Given the description of an element on the screen output the (x, y) to click on. 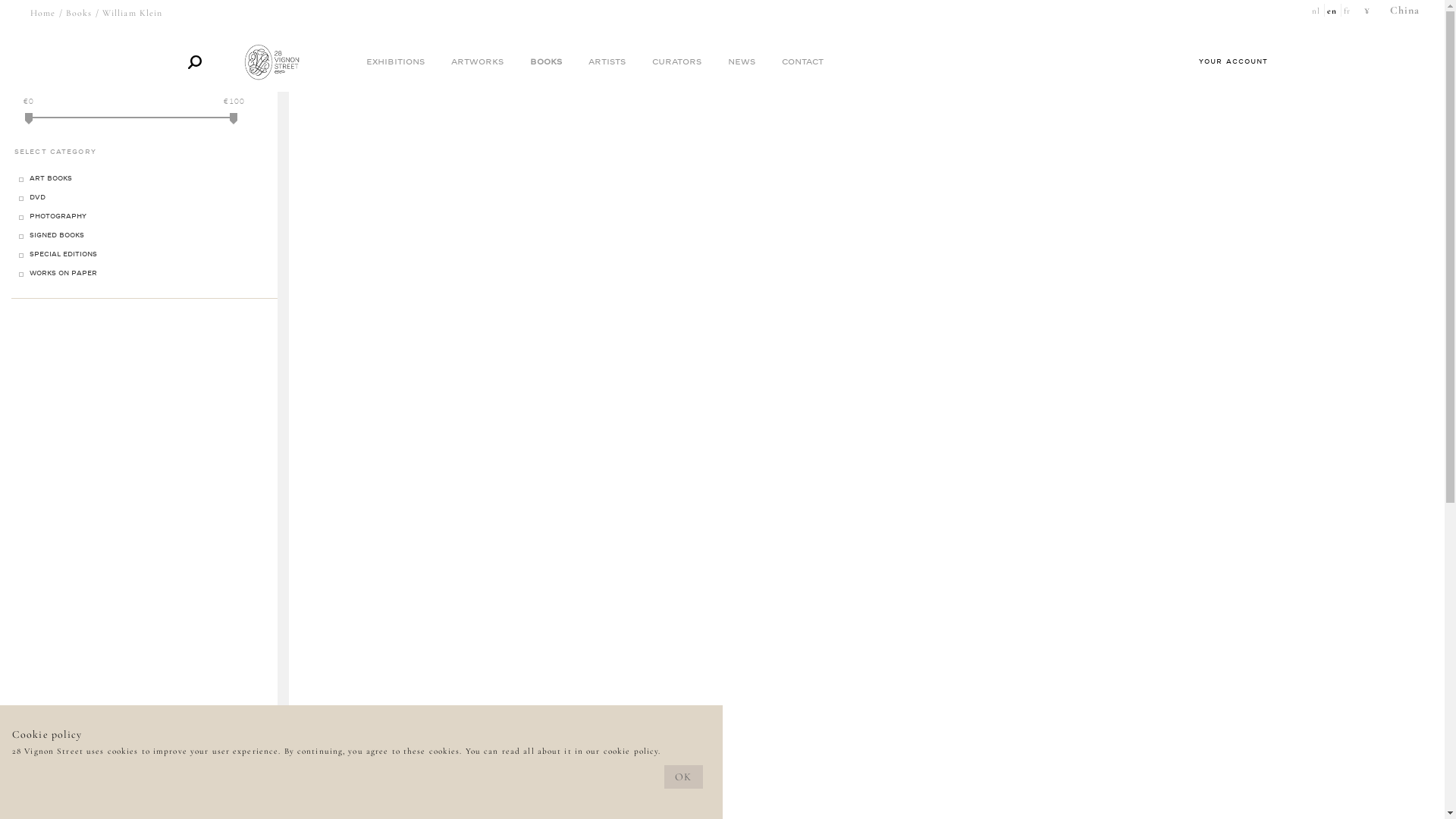
Signed books Element type: text (56, 235)
fr Element type: text (1347, 10)
Artworks Element type: text (476, 61)
Special editions Element type: text (63, 254)
Home Element type: text (42, 12)
Exhibitions Element type: text (394, 61)
Artists Element type: text (606, 61)
en Element type: text (1332, 10)
Art books Element type: text (50, 178)
William Klein Element type: text (132, 12)
Contact Element type: text (801, 61)
Books Element type: text (545, 61)
Books Element type: text (78, 12)
Curators Element type: text (676, 61)
DVD Element type: text (37, 197)
News Element type: text (741, 61)
Photography Element type: text (57, 216)
Works on paper Element type: text (63, 273)
nl Element type: text (1316, 10)
cookie policy Element type: text (630, 751)
Select category Element type: text (144, 151)
